Given the description of an element on the screen output the (x, y) to click on. 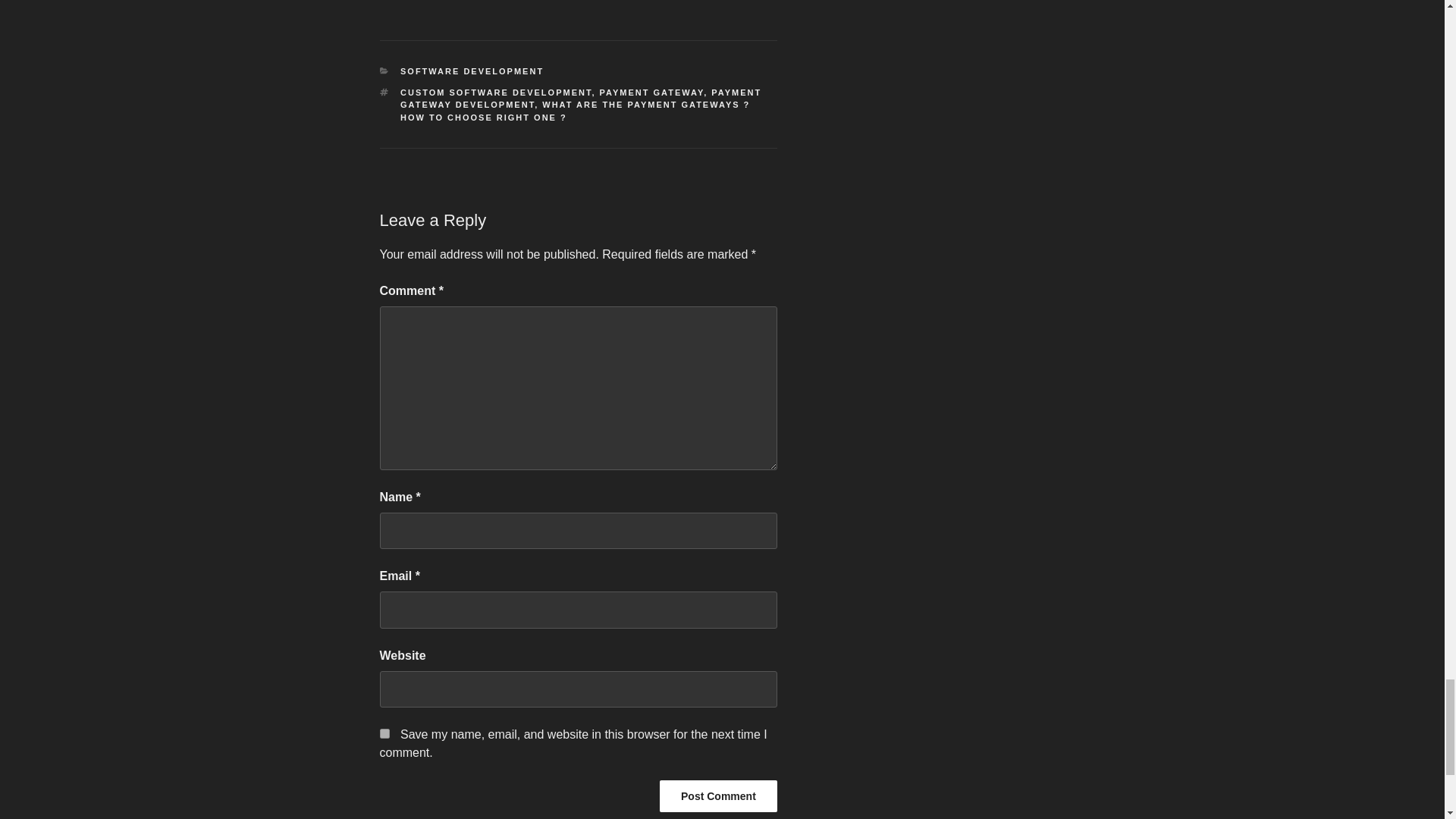
SOFTWARE DEVELOPMENT (471, 71)
PAYMENT GATEWAY DEVELOPMENT (580, 98)
Post Comment (718, 796)
PAYMENT GATEWAY (651, 92)
yes (383, 733)
WHAT ARE THE PAYMENT GATEWAYS ? HOW TO CHOOSE RIGHT ONE ? (574, 110)
CUSTOM SOFTWARE DEVELOPMENT (495, 92)
Post Comment (718, 796)
